Given the description of an element on the screen output the (x, y) to click on. 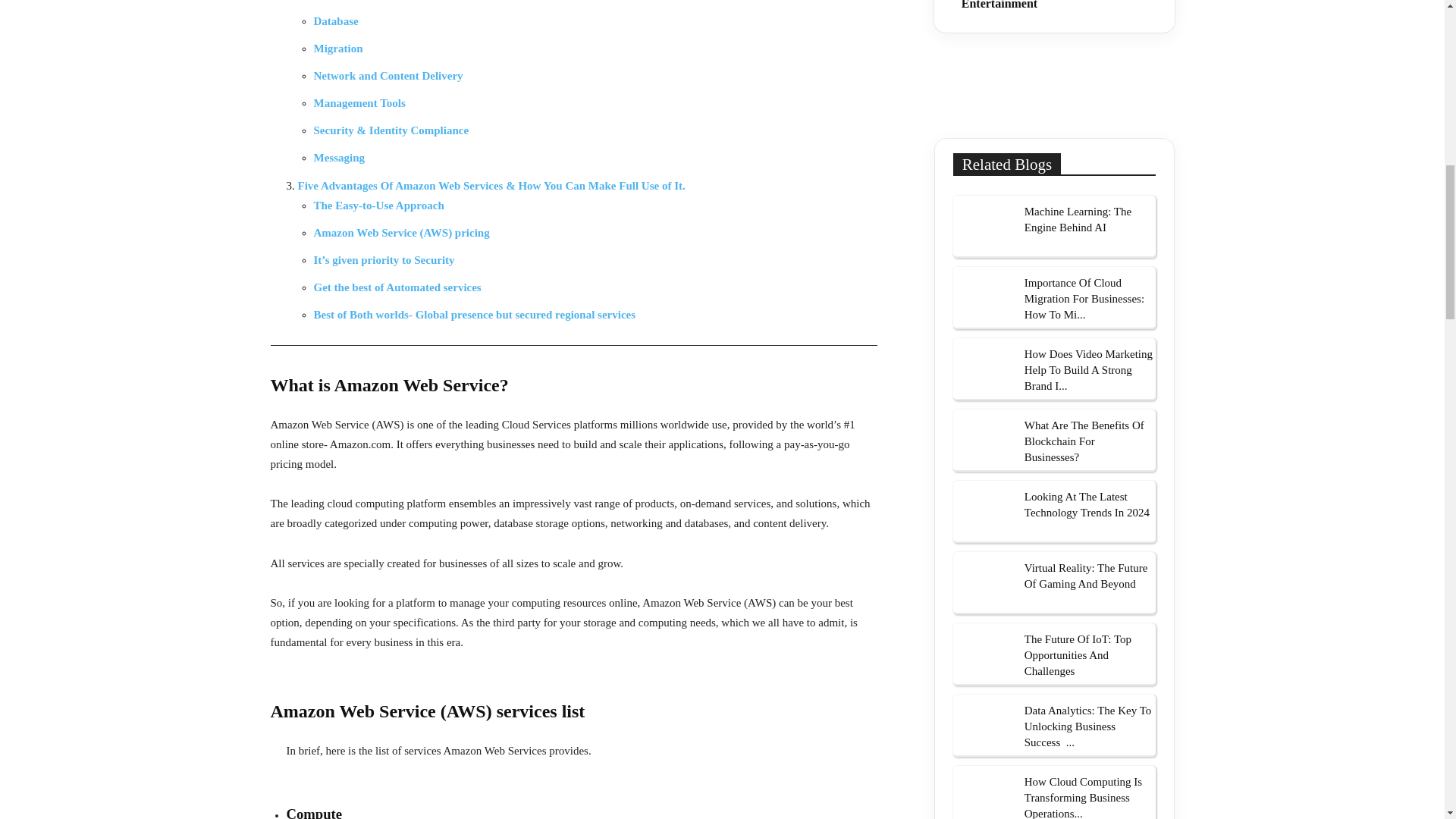
Database (336, 21)
Migration (338, 48)
Management Tools (360, 102)
Network and Content Delivery (388, 75)
